Given the description of an element on the screen output the (x, y) to click on. 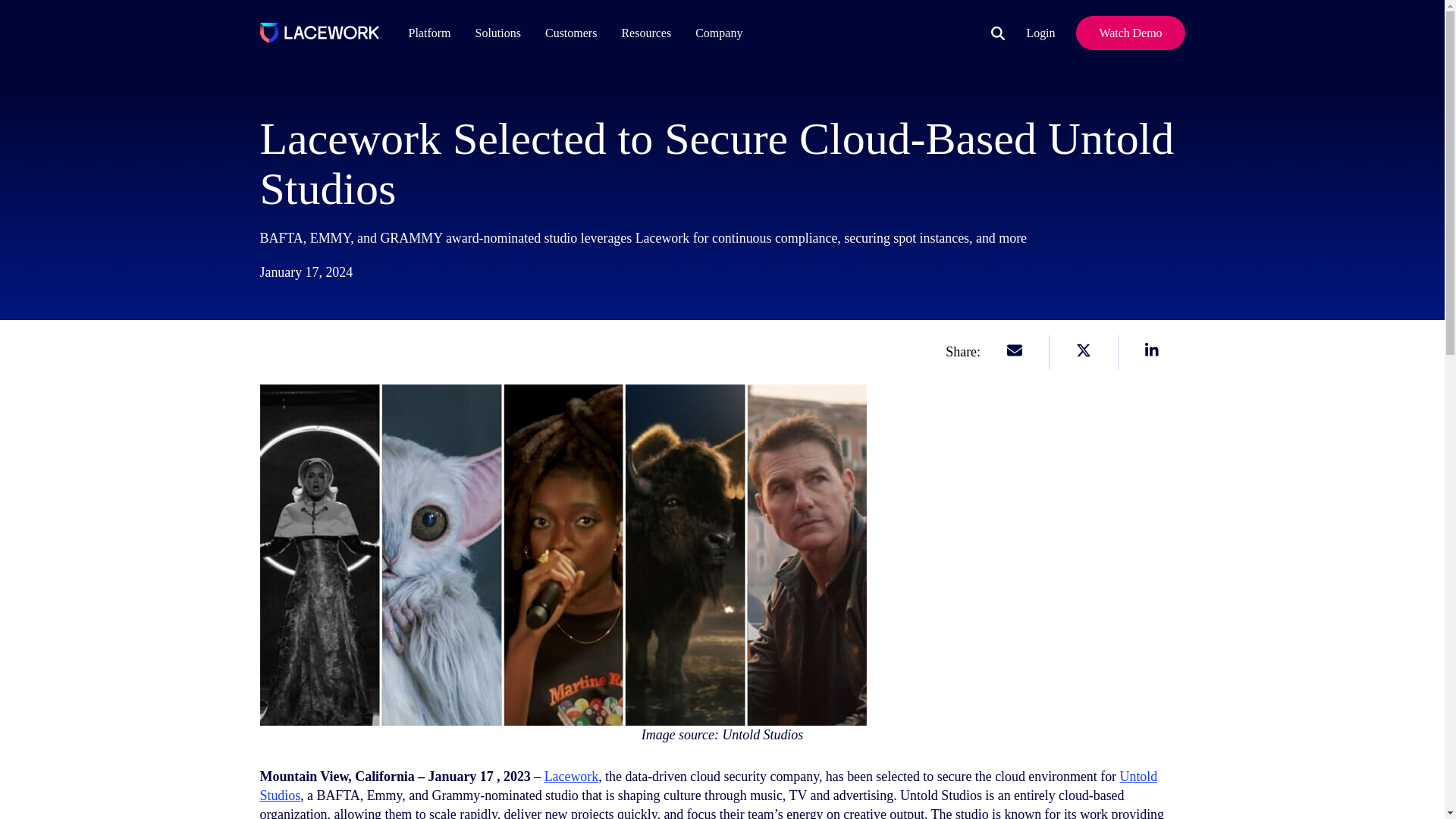
Solutions (497, 32)
Resources (645, 32)
Platform (429, 32)
Customers (575, 32)
